Given the description of an element on the screen output the (x, y) to click on. 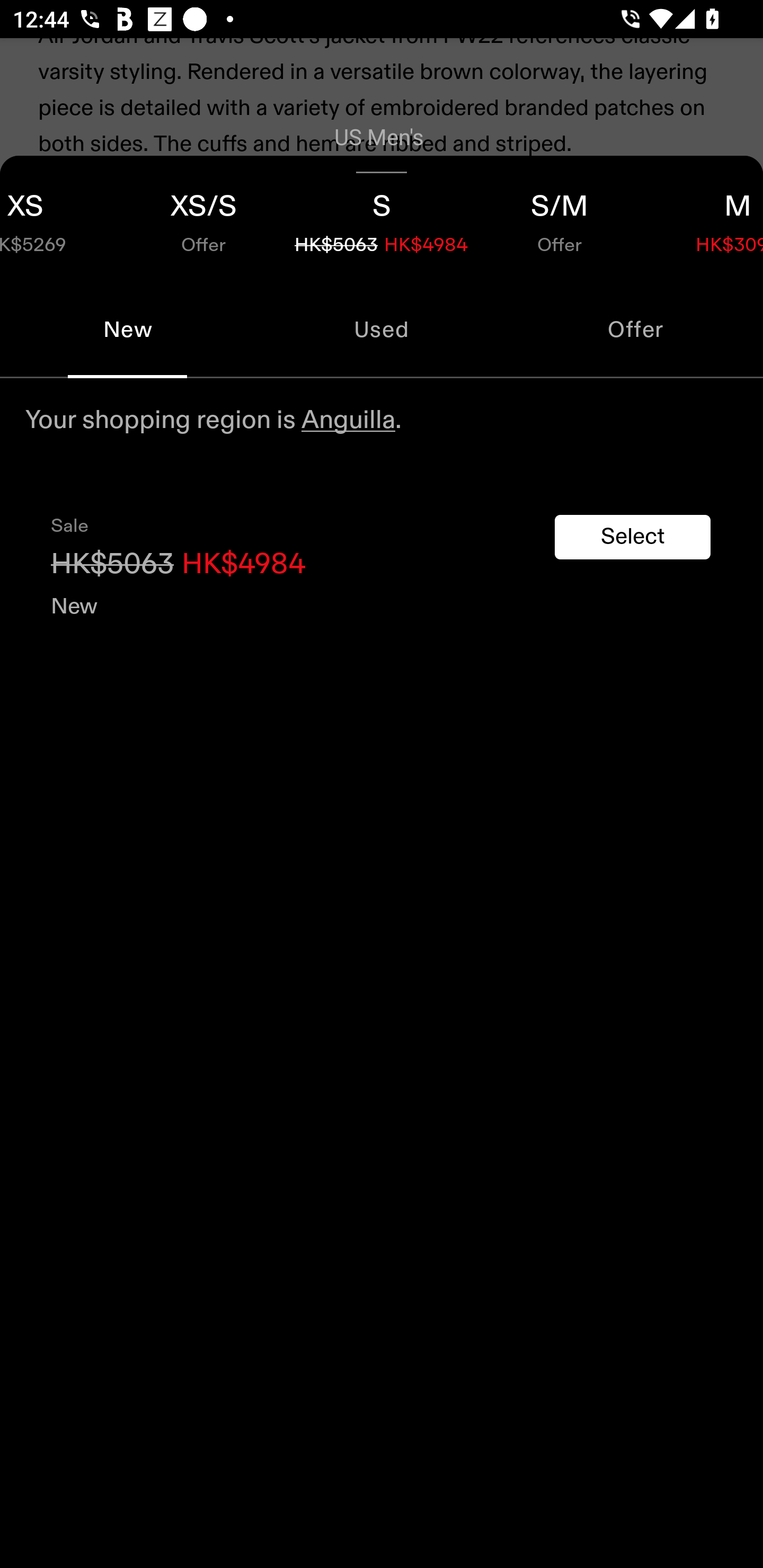
XS HK$5269 (57, 218)
XS/S Offer (203, 218)
S HK$5063 HK$4984 (381, 218)
S/M Offer (559, 218)
M HK$3094 (705, 218)
Used (381, 329)
Offer (635, 329)
Sell (152, 361)
Select (632, 536)
